Given the description of an element on the screen output the (x, y) to click on. 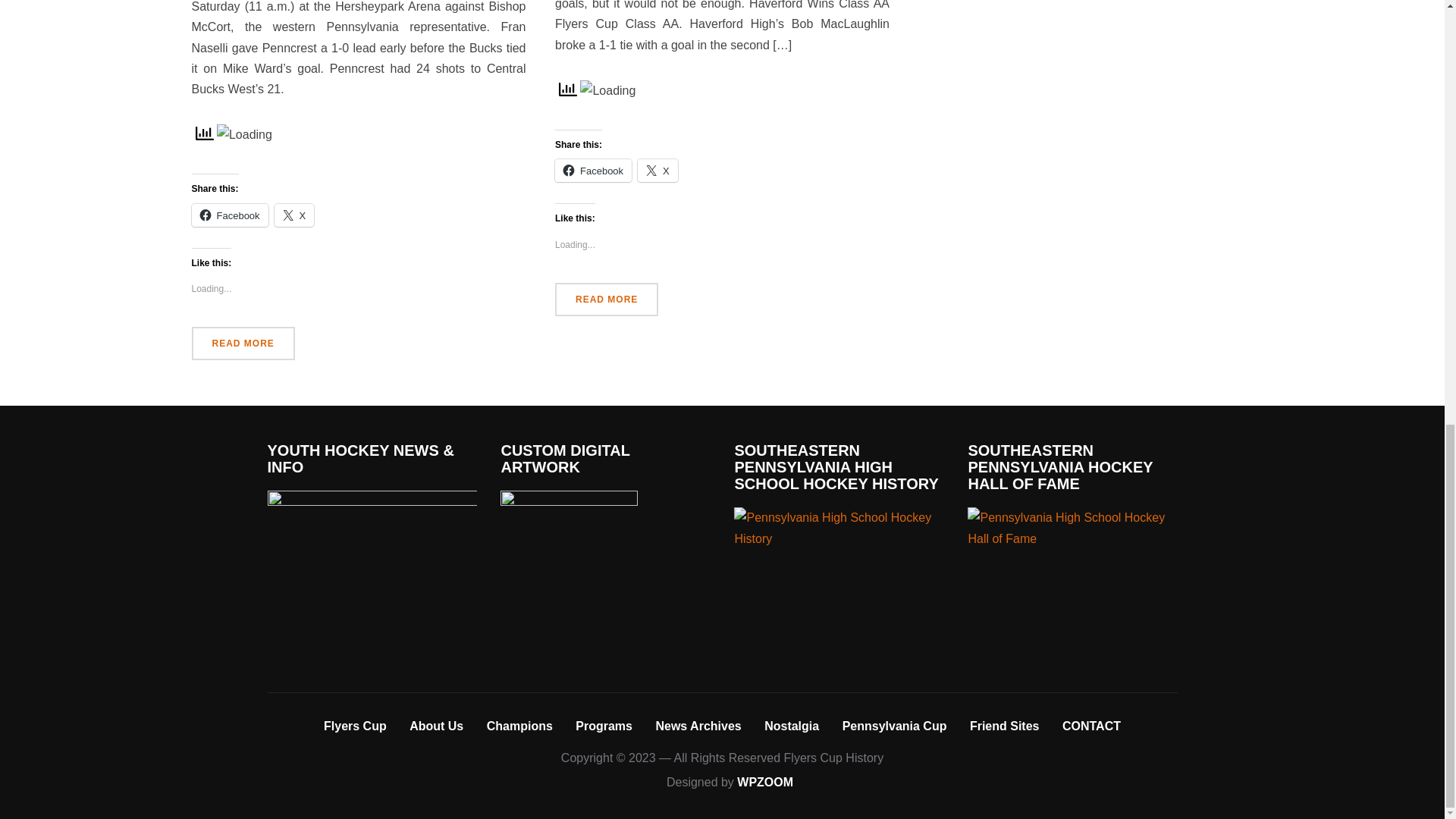
Click to share on Facebook (228, 214)
jporubskidesign (568, 500)
Pennsylvania High School Hockey History (838, 526)
Click to share on Facebook (592, 169)
Click to share on X (294, 214)
youthhockeyinfo (371, 500)
Pennsylvania High School Hockey Hall of Fame (1072, 526)
southeasternpahshockey (838, 517)
Click to share on X (657, 169)
